Given the description of an element on the screen output the (x, y) to click on. 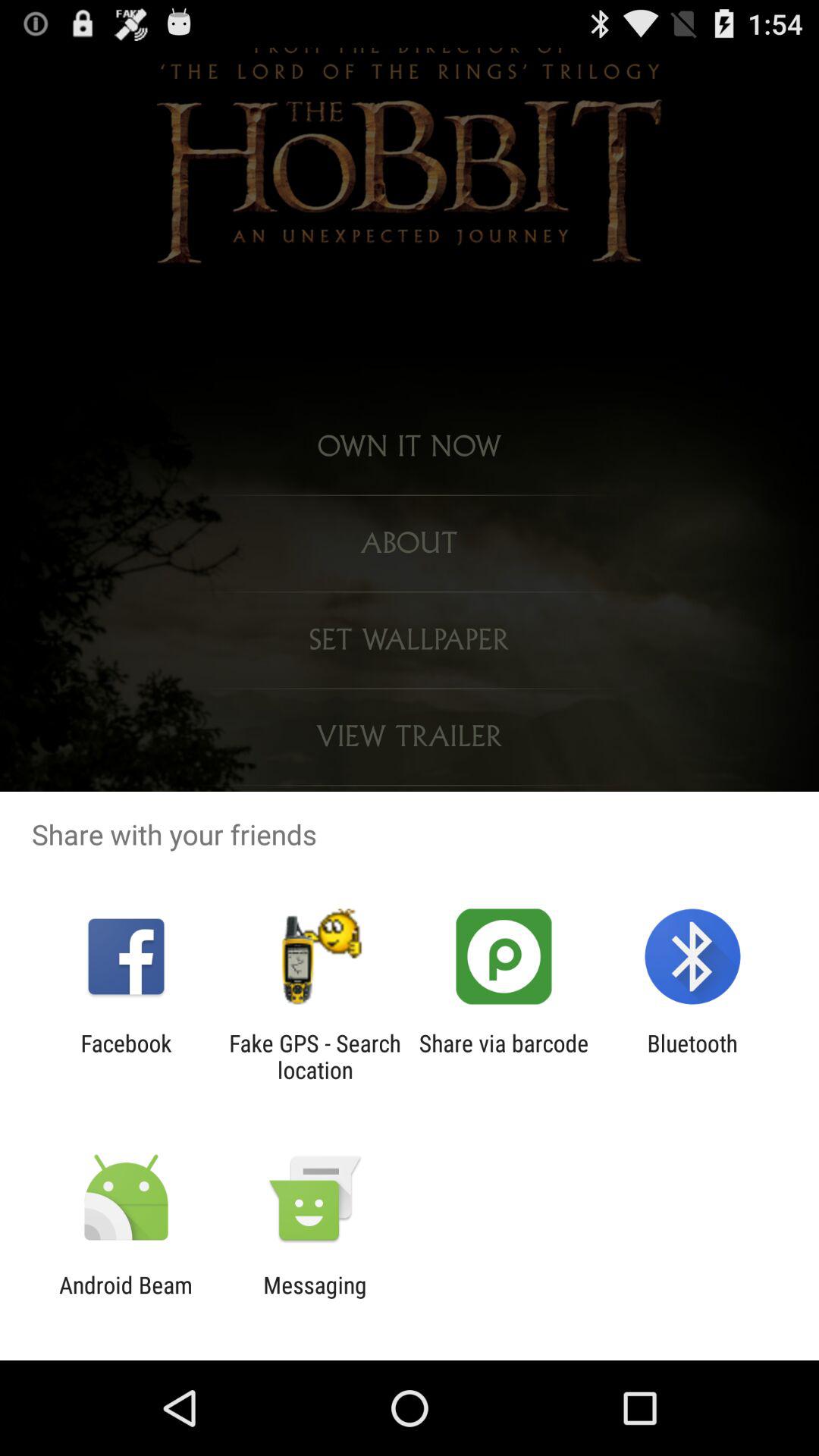
press the share via barcode icon (503, 1056)
